Given the description of an element on the screen output the (x, y) to click on. 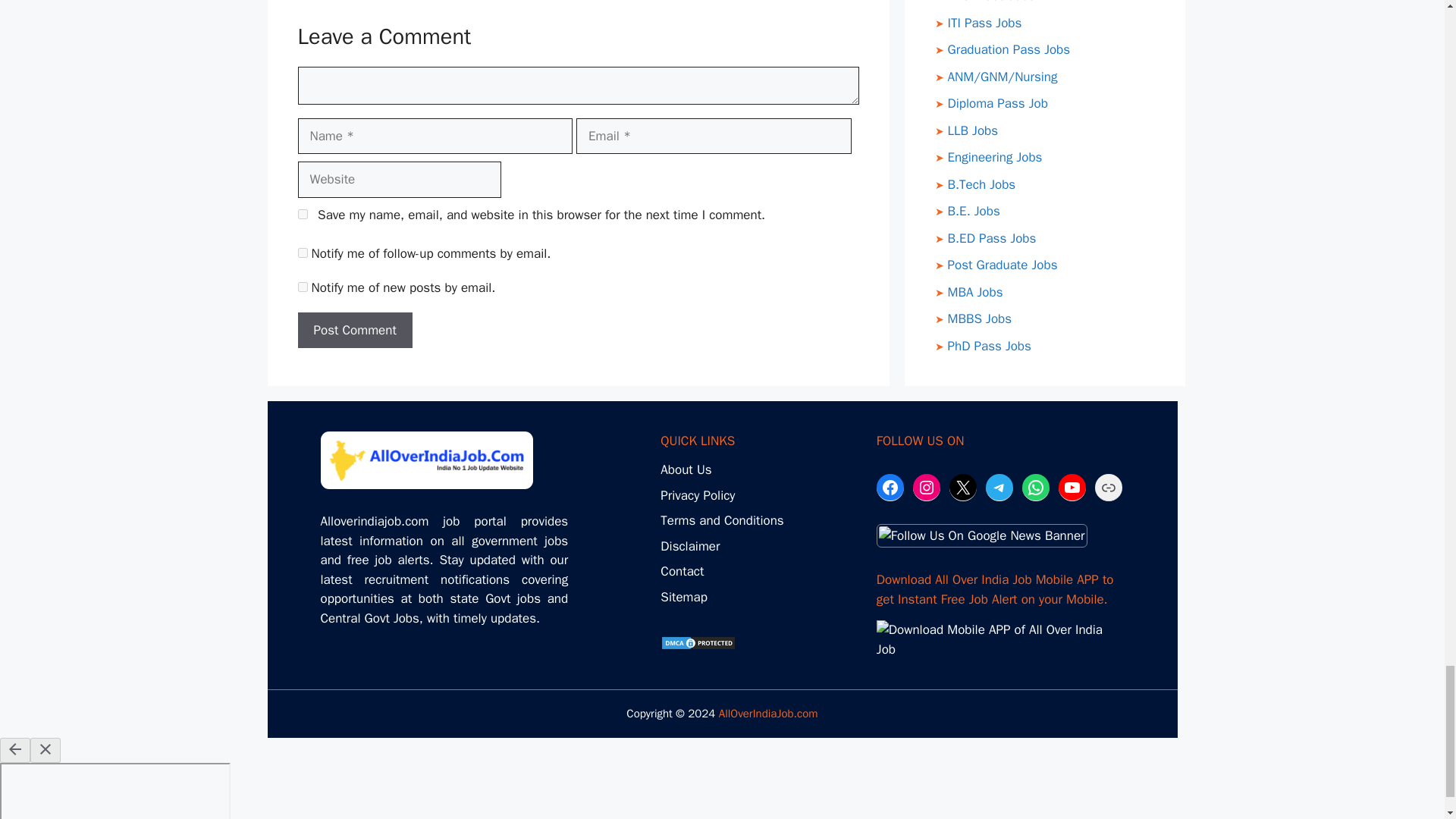
yes (302, 214)
DMCA.com Protection Status (698, 646)
subscribe (302, 286)
Post Comment (354, 330)
subscribe (302, 252)
